Given the description of an element on the screen output the (x, y) to click on. 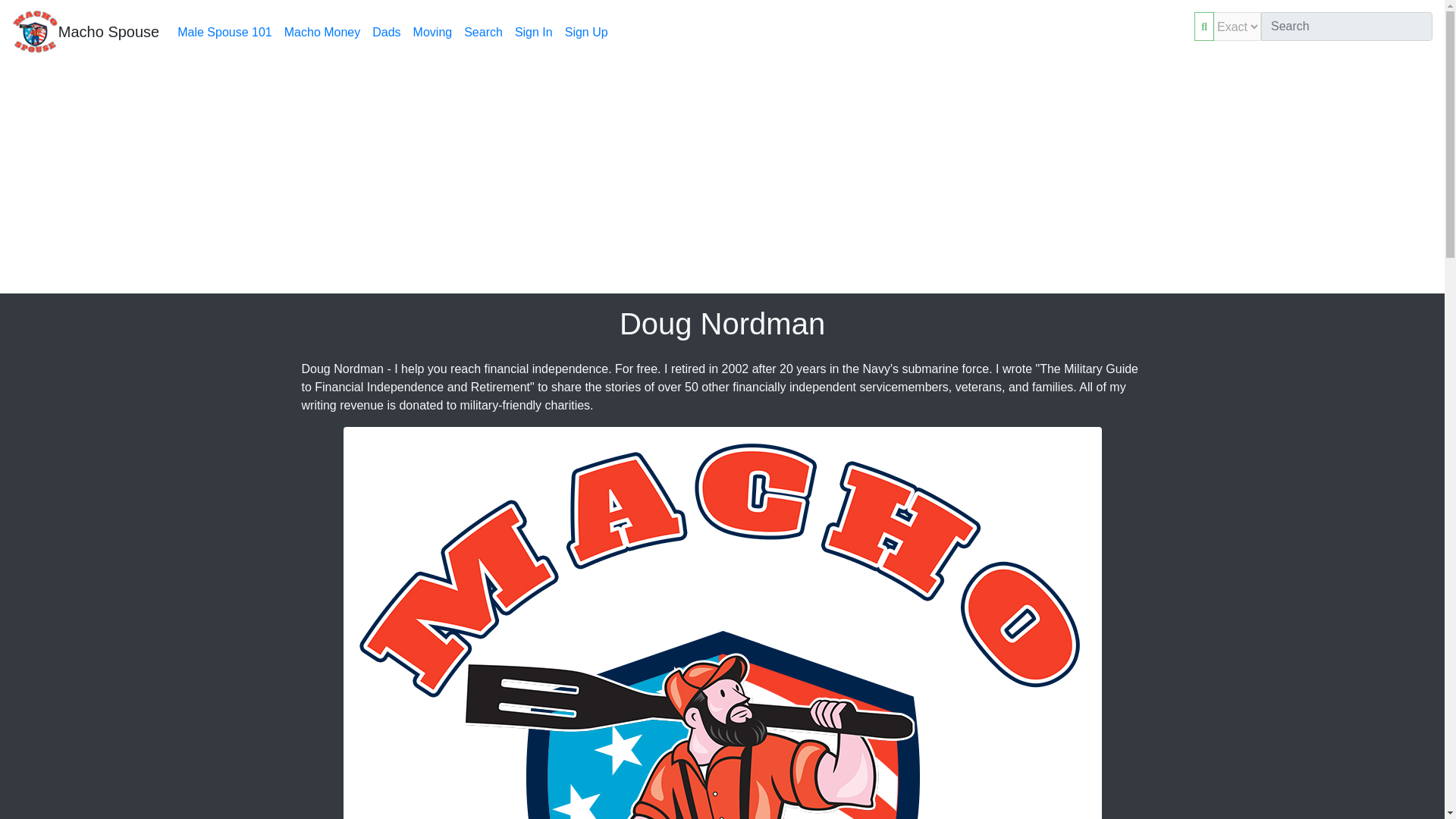
Moving (432, 32)
Sign Up (586, 32)
Sign In (533, 32)
Macho Money (322, 32)
Male Spouse 101 (224, 32)
Search (483, 32)
Dads (386, 32)
